Given the description of an element on the screen output the (x, y) to click on. 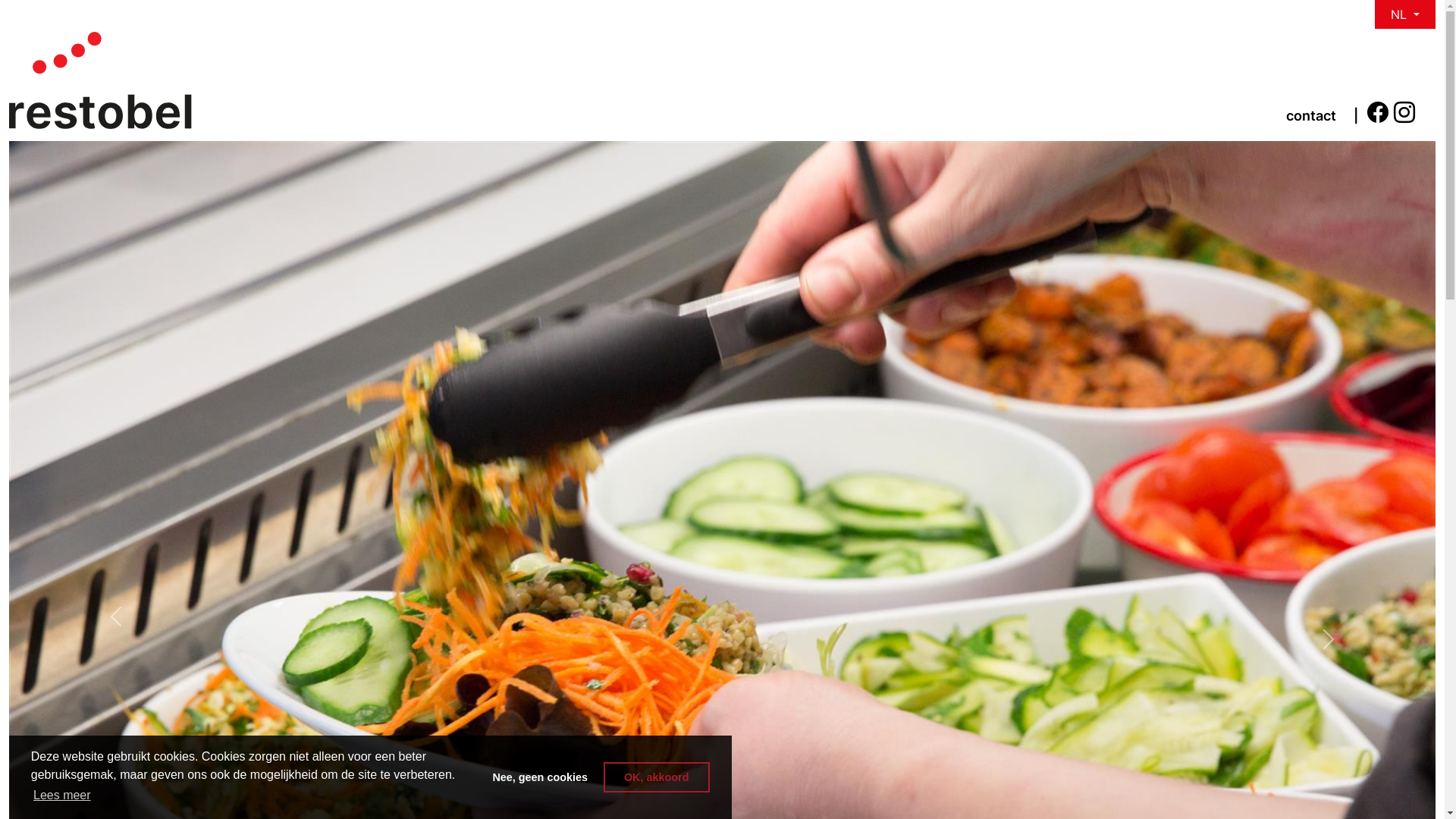
Nee, geen cookies Element type: text (540, 777)
Lees meer Element type: text (62, 795)
OK, akkoord Element type: text (656, 777)
NL Element type: text (1404, 14)
contact Element type: text (1311, 115)
